Given the description of an element on the screen output the (x, y) to click on. 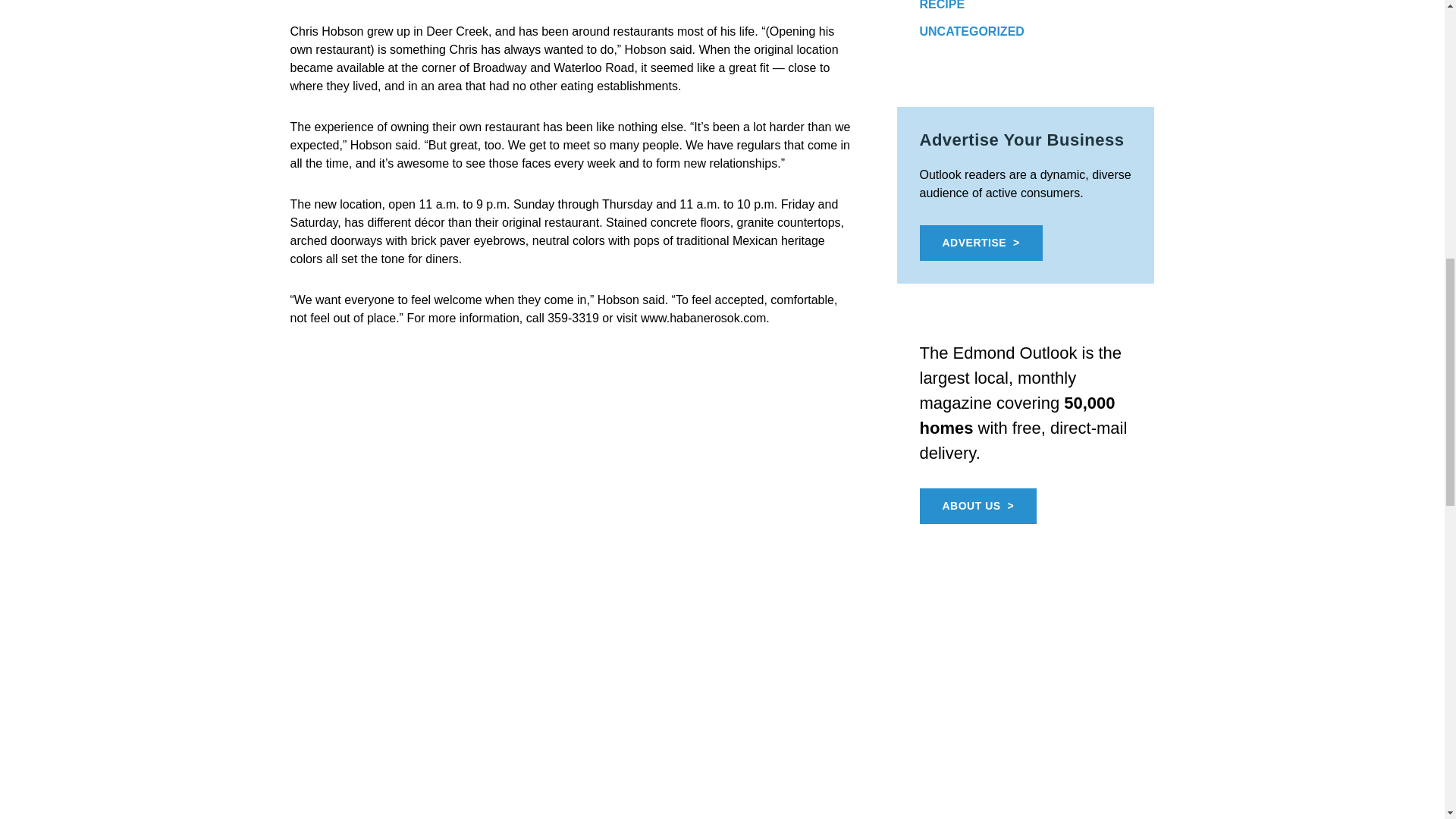
RECIPE (940, 5)
UNCATEGORIZED (970, 31)
